Given the description of an element on the screen output the (x, y) to click on. 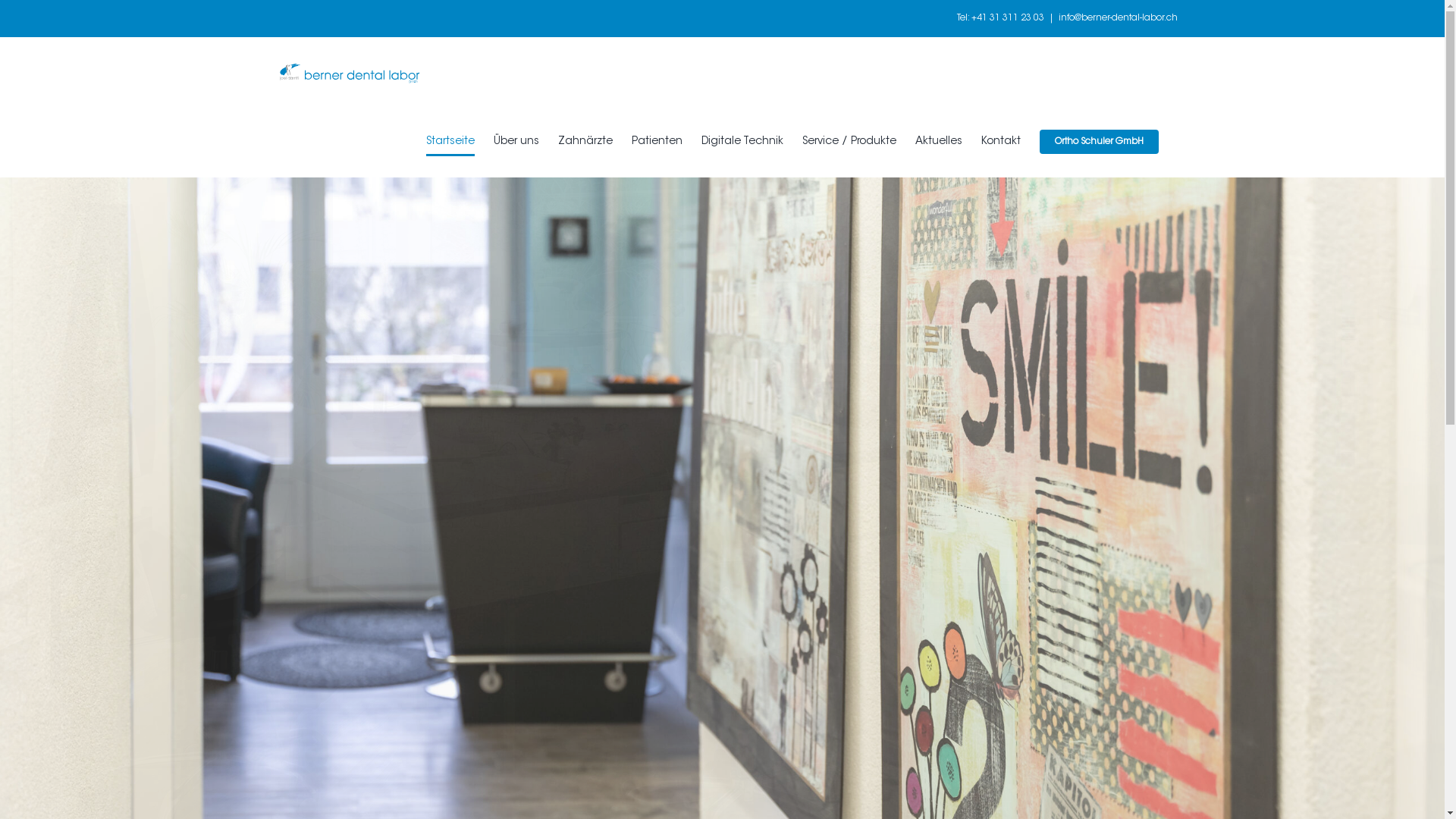
Digitale Technik Element type: text (741, 141)
+41 31 311 23 03 Element type: text (1006, 17)
Aktuelles Element type: text (937, 141)
Patienten Element type: text (655, 141)
Ortho Schuler GmbH Element type: text (1097, 141)
info@berner-dental-labor.ch Element type: text (1117, 17)
Kontakt Element type: text (1000, 141)
Startseite Element type: text (450, 141)
Service / Produkte Element type: text (849, 141)
